Given the description of an element on the screen output the (x, y) to click on. 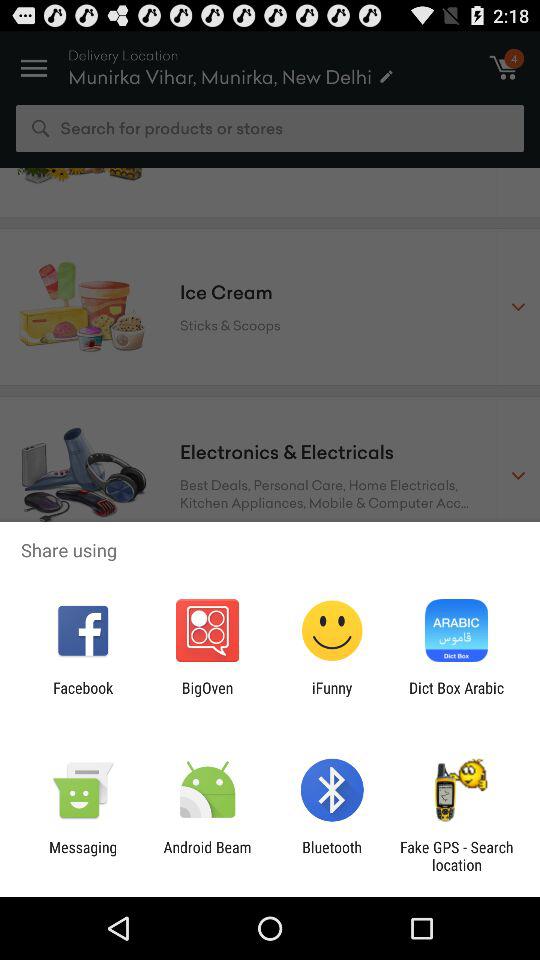
turn on the icon next to the android beam (83, 856)
